Given the description of an element on the screen output the (x, y) to click on. 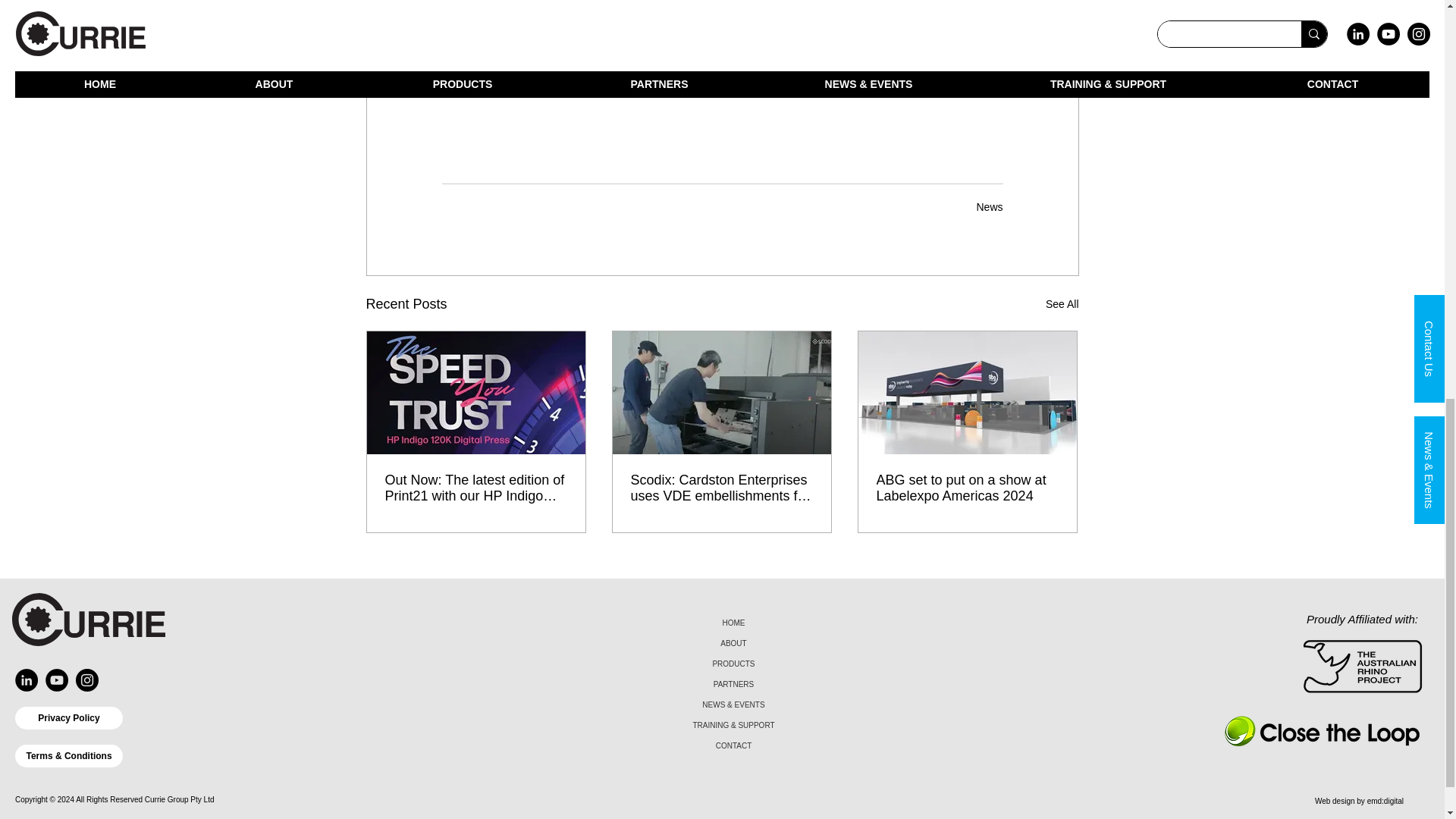
ABG set to put on a show at Labelexpo Americas 2024 (967, 488)
See All (1061, 304)
News (989, 206)
CONTACT CURRIE GROUP (722, 41)
